Given the description of an element on the screen output the (x, y) to click on. 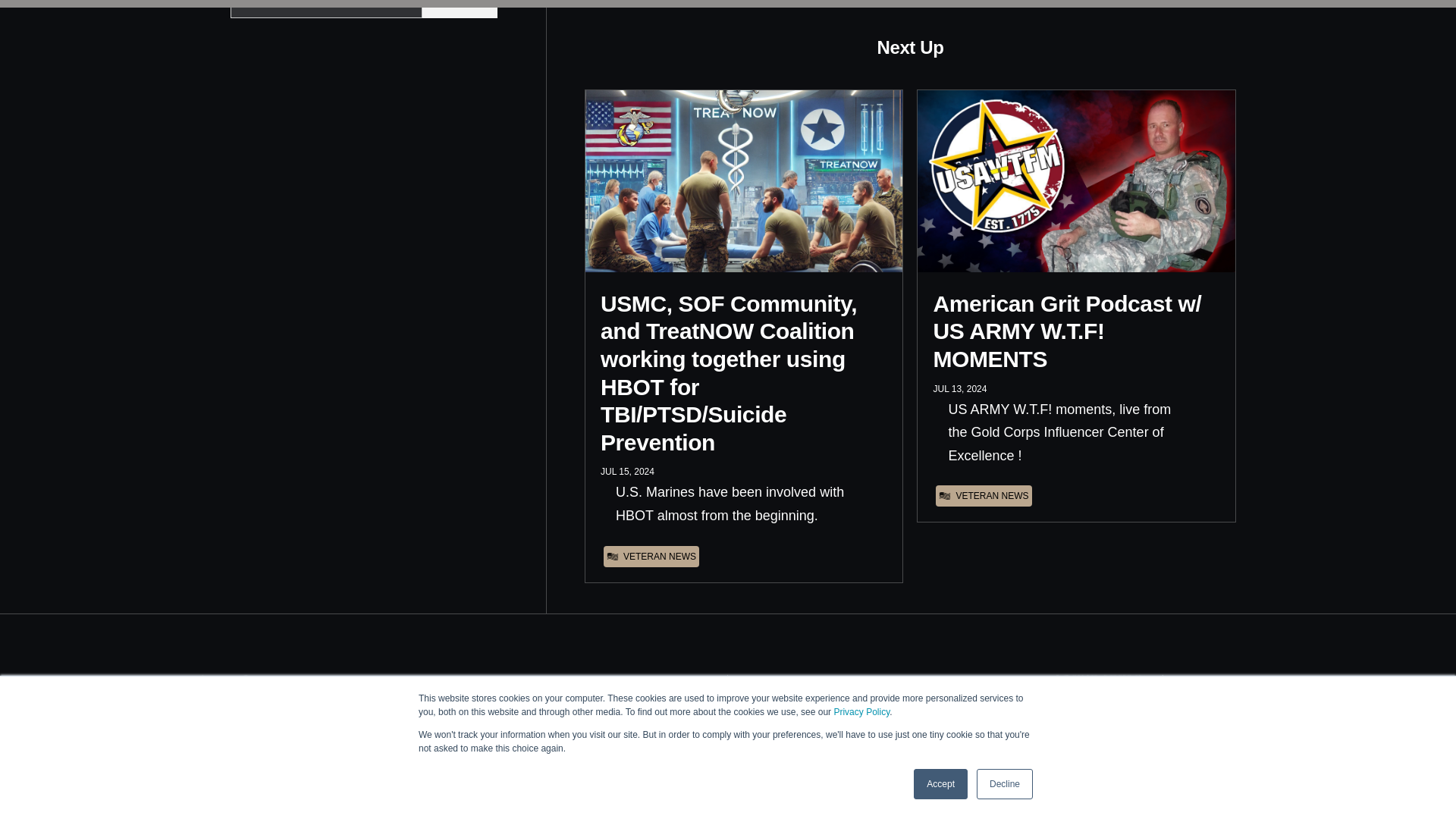
Submit (459, 9)
